Given the description of an element on the screen output the (x, y) to click on. 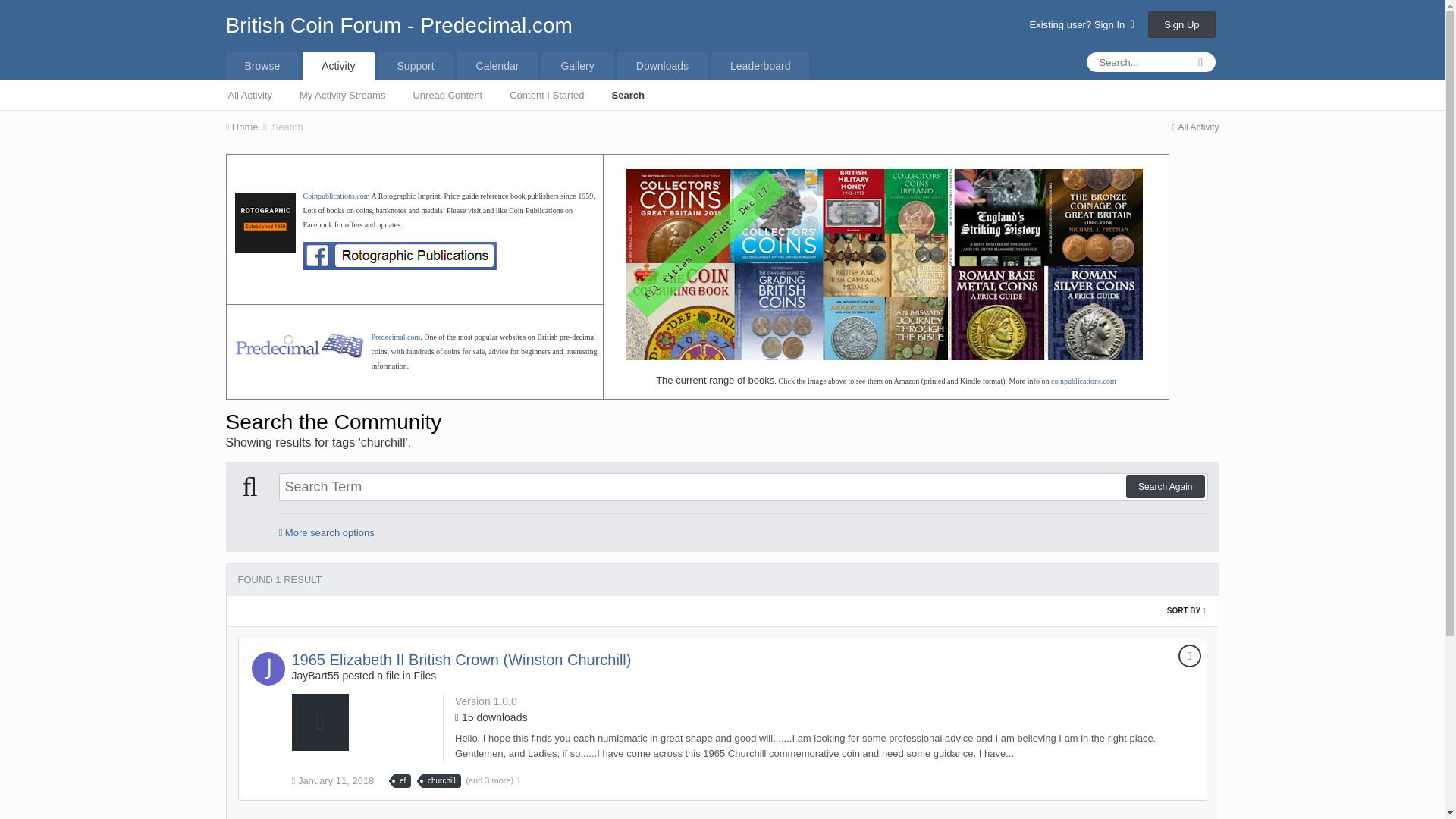
Go to JayBart55's profile (268, 668)
All Activity (1196, 127)
Content I Started (546, 93)
Calendar (497, 65)
Activity (338, 65)
British Coin Forum - Predecimal.com (398, 24)
Coinpublications.com (335, 194)
Sign Up (1181, 24)
Existing user? Sign In   (1081, 24)
Downloads (662, 65)
Home (247, 126)
Home (247, 126)
Leaderboard (760, 65)
Unread Content (447, 93)
My Activity Streams (341, 93)
